Given the description of an element on the screen output the (x, y) to click on. 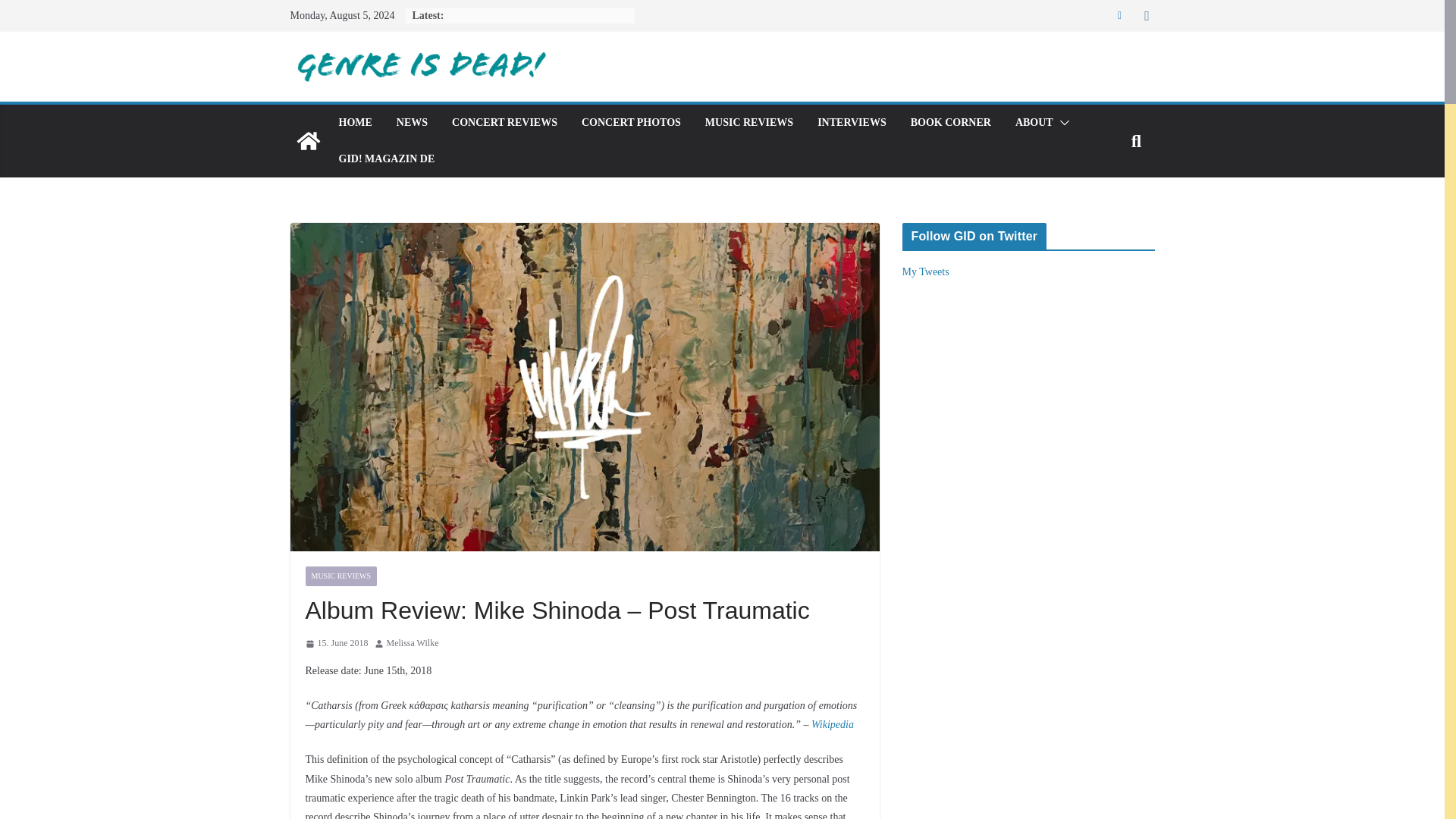
Melissa Wilke (413, 643)
GID! MAGAZIN DE (385, 158)
00:19 (336, 643)
MUSIC REVIEWS (748, 122)
CONCERT REVIEWS (504, 122)
CONCERT PHOTOS (630, 122)
ABOUT (1033, 122)
15. June 2018 (336, 643)
Melissa Wilke (413, 643)
NEWS (412, 122)
BOOK CORNER (951, 122)
HOME (354, 122)
GENRE IS DEAD! (307, 140)
INTERVIEWS (851, 122)
MUSIC REVIEWS (340, 576)
